Given the description of an element on the screen output the (x, y) to click on. 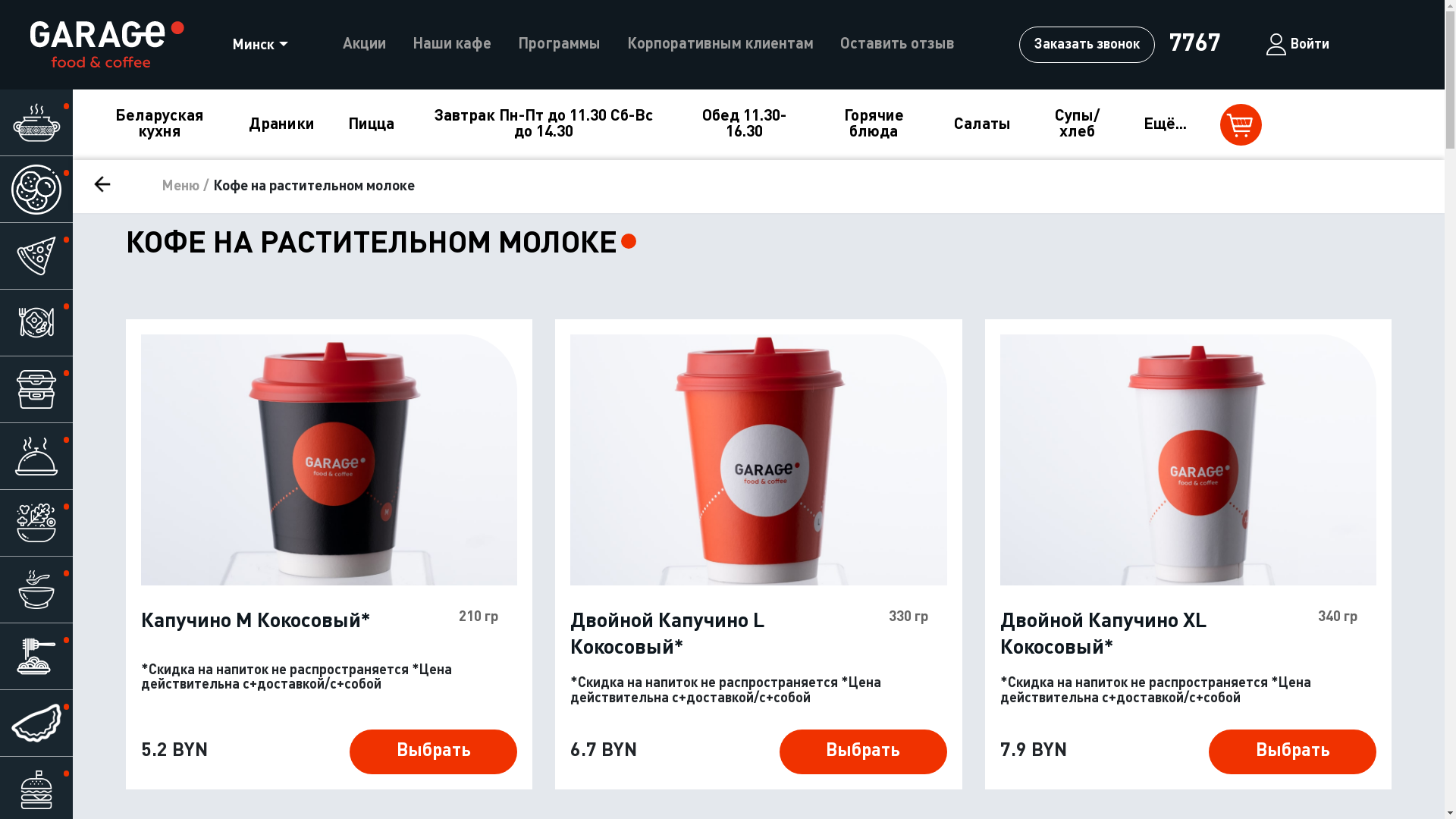
7767 Element type: text (1194, 44)
